Given the description of an element on the screen output the (x, y) to click on. 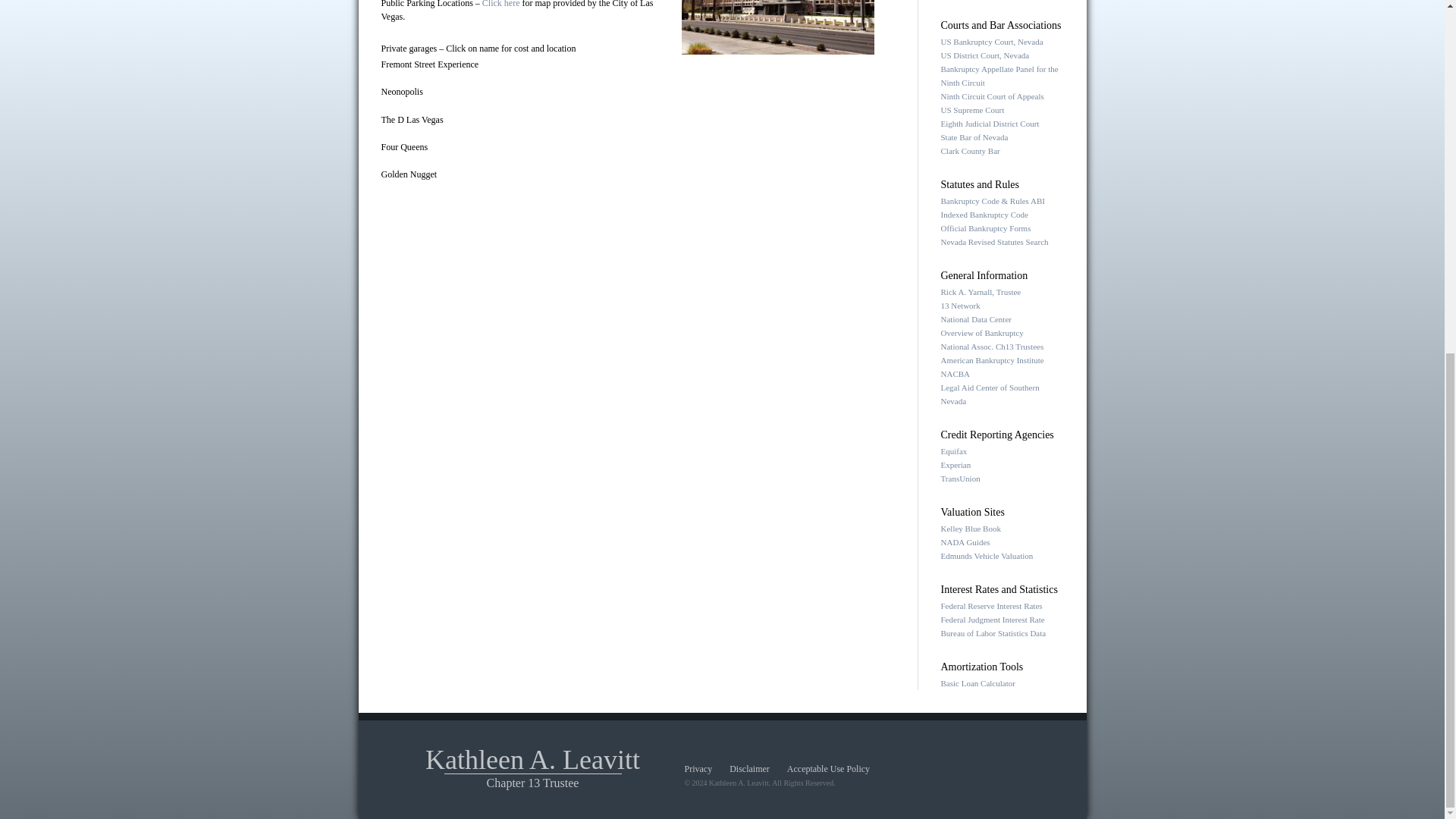
Eighth Judicial District Court (989, 122)
State Bar of Nevada (973, 136)
Clark County Bar (969, 150)
Official Bankruptcy Forms (985, 227)
Indexed Bankruptcy Code (983, 214)
Rick A. Yarnall, Trustee (980, 291)
Ninth Circuit Court of Appeals (991, 95)
National Assoc. Ch13 Trustees (991, 346)
Click here (500, 4)
US Supreme Court (972, 109)
Nevada Revised Statutes Search (994, 241)
13 Network (959, 305)
US Bankruptcy Court, Nevada (991, 40)
National Data Center (975, 318)
Bankruptcy Appellate Panel for the Ninth Circuit (999, 75)
